Given the description of an element on the screen output the (x, y) to click on. 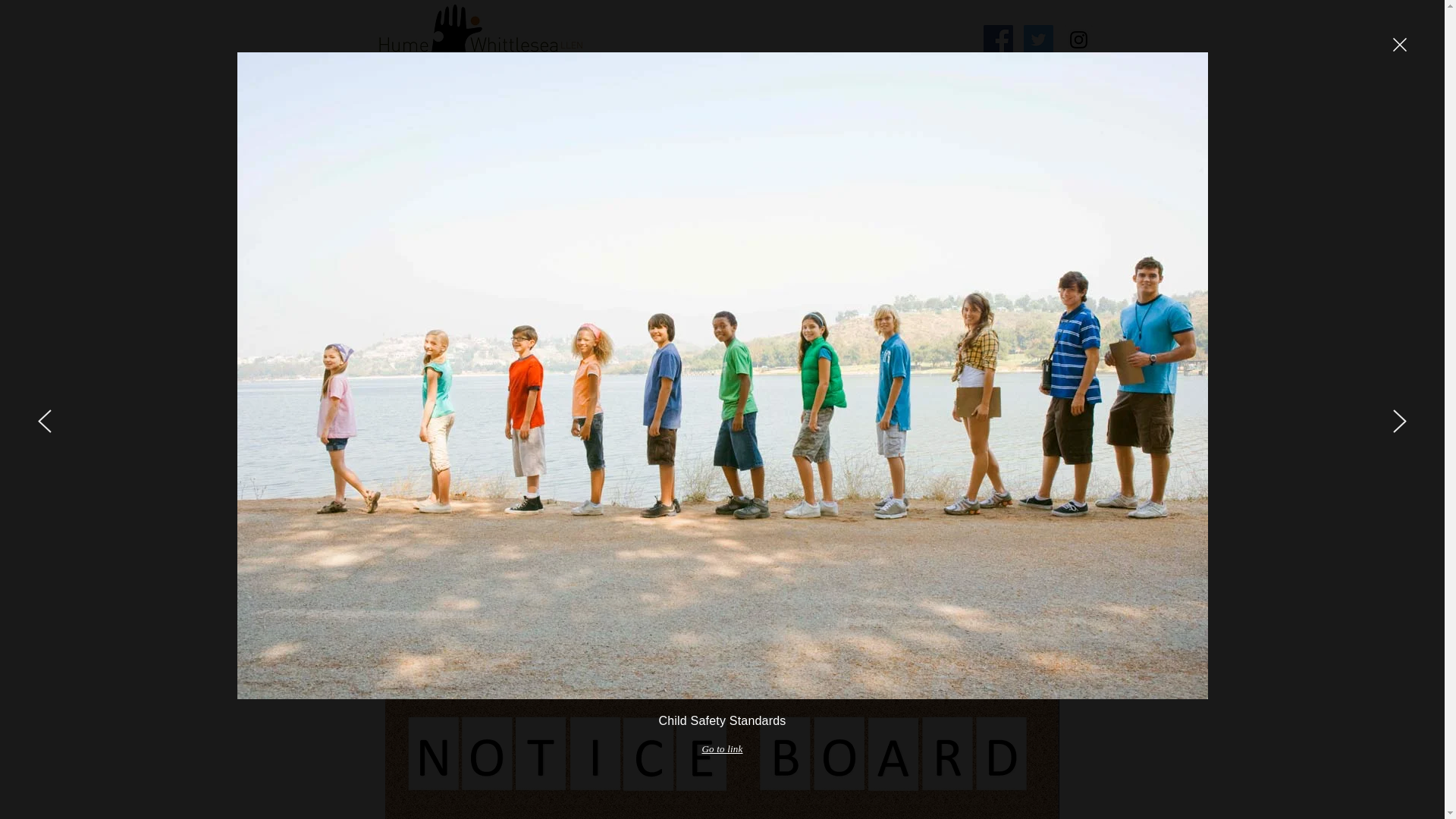
SCHOOL TO WORK Element type: text (638, 115)
NEWS and UPDATES Element type: text (492, 115)
HOME Element type: text (382, 115)
Go to link Element type: text (721, 749)
HWLLEN PROGRAMS Element type: text (787, 115)
YOUTH COMMITMENTS Element type: text (950, 115)
